Given the description of an element on the screen output the (x, y) to click on. 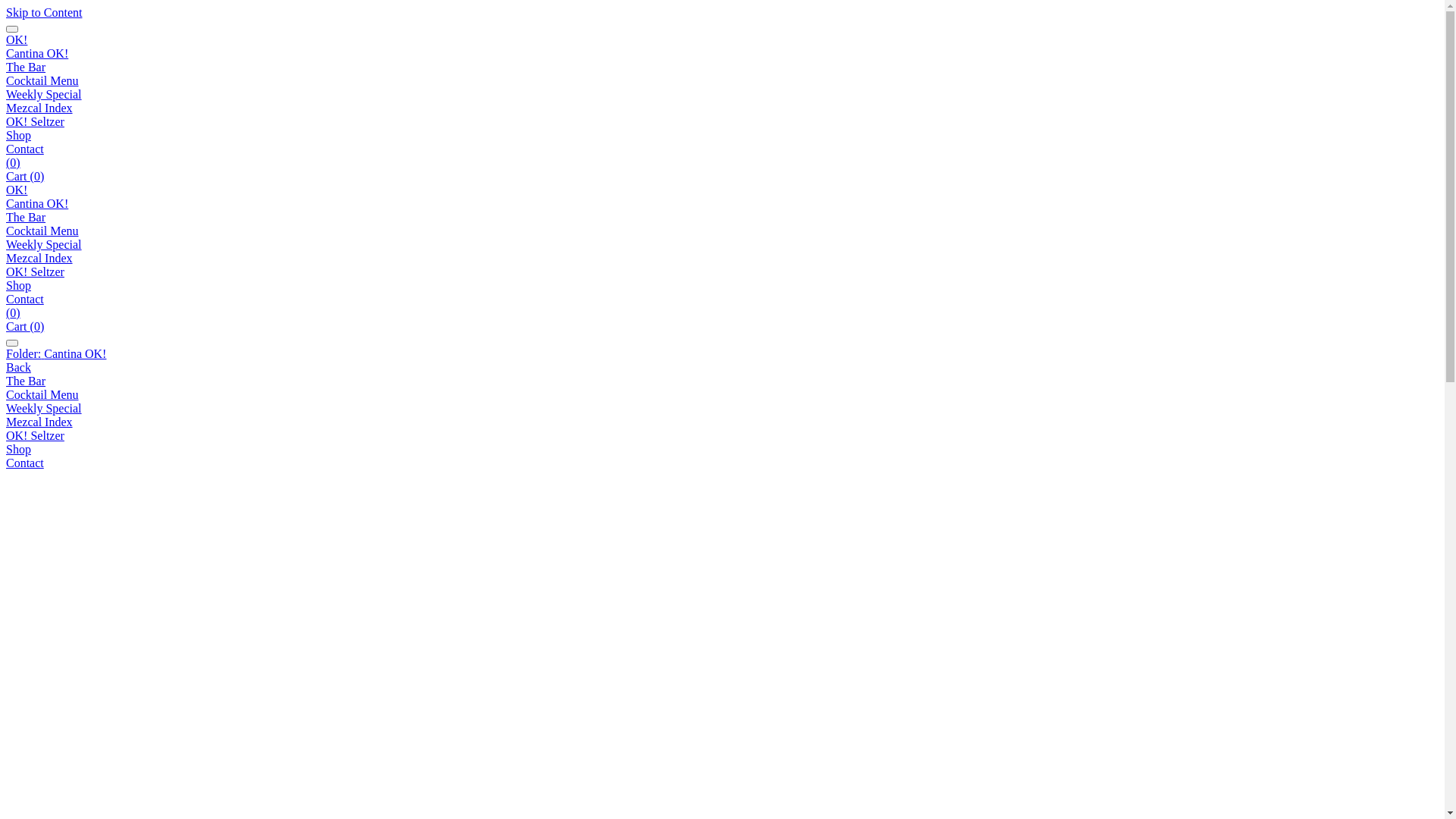
Folder: Cantina OK! Element type: text (722, 353)
Cocktail Menu Element type: text (42, 394)
Mezcal Index Element type: text (39, 107)
Cantina OK! Element type: text (37, 53)
Shop Element type: text (18, 134)
Cart (0) Element type: text (24, 326)
The Bar Element type: text (25, 66)
Cart (0) Element type: text (24, 175)
Skip to Content Element type: text (43, 12)
Contact Element type: text (722, 463)
Shop Element type: text (18, 285)
(0) Element type: text (13, 312)
Back Element type: text (18, 366)
(0) Element type: text (13, 162)
Contact Element type: text (24, 148)
OK! Seltzer Element type: text (35, 271)
Weekly Special Element type: text (43, 93)
Weekly Special Element type: text (43, 407)
OK! Element type: text (16, 39)
Mezcal Index Element type: text (722, 422)
OK! Seltzer Element type: text (35, 121)
Mezcal Index Element type: text (39, 257)
Contact Element type: text (24, 298)
The Bar Element type: text (25, 216)
Weekly Special Element type: text (43, 244)
The Bar Element type: text (25, 380)
Cantina OK! Element type: text (37, 203)
Shop Element type: text (722, 449)
OK! Seltzer Element type: text (35, 435)
Cocktail Menu Element type: text (42, 80)
OK! Element type: text (16, 189)
Cocktail Menu Element type: text (42, 230)
